Given the description of an element on the screen output the (x, y) to click on. 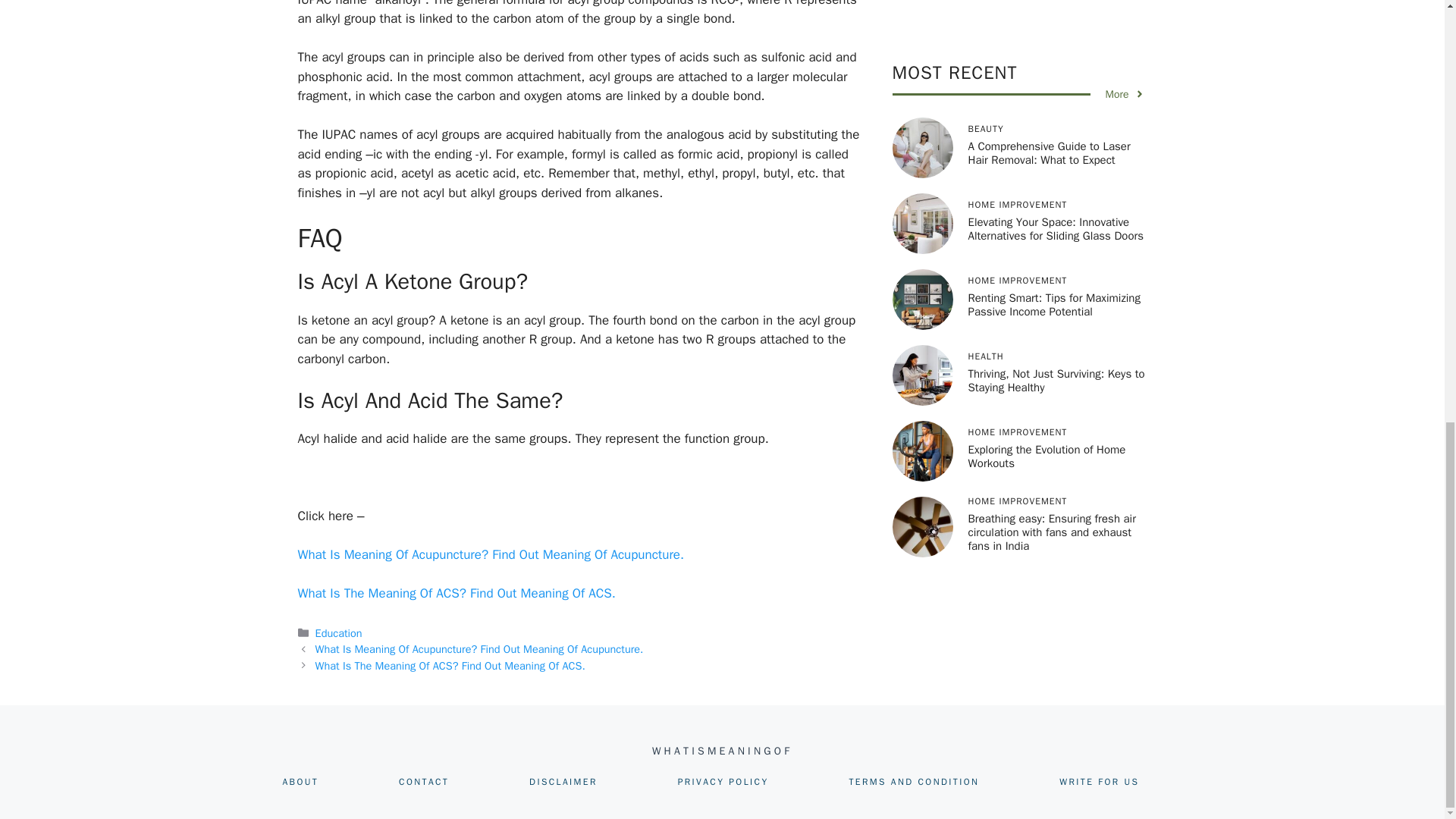
Education (338, 632)
What Is The Meaning Of ACS? Find Out Meaning Of ACS. (450, 665)
What Is The Meaning Of ACS? Find Out Meaning Of ACS. (455, 593)
